Given the description of an element on the screen output the (x, y) to click on. 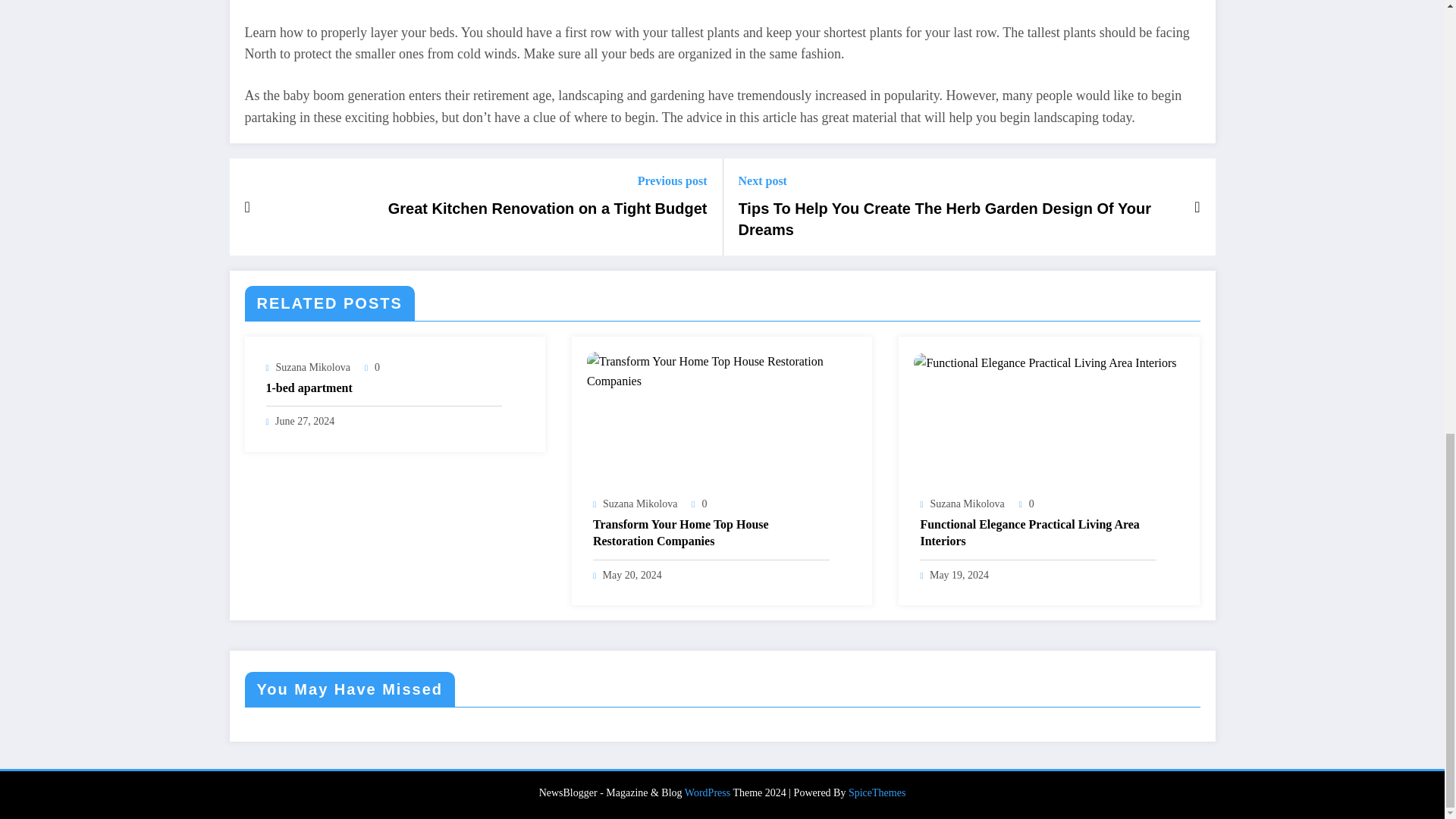
June 27, 2024 (304, 420)
Suzana Mikolova (639, 503)
Suzana Mikolova (313, 367)
1-bed apartment (383, 388)
Next post (957, 180)
Previous post (547, 180)
Great Kitchen Renovation on a Tight Budget (547, 208)
